Given the description of an element on the screen output the (x, y) to click on. 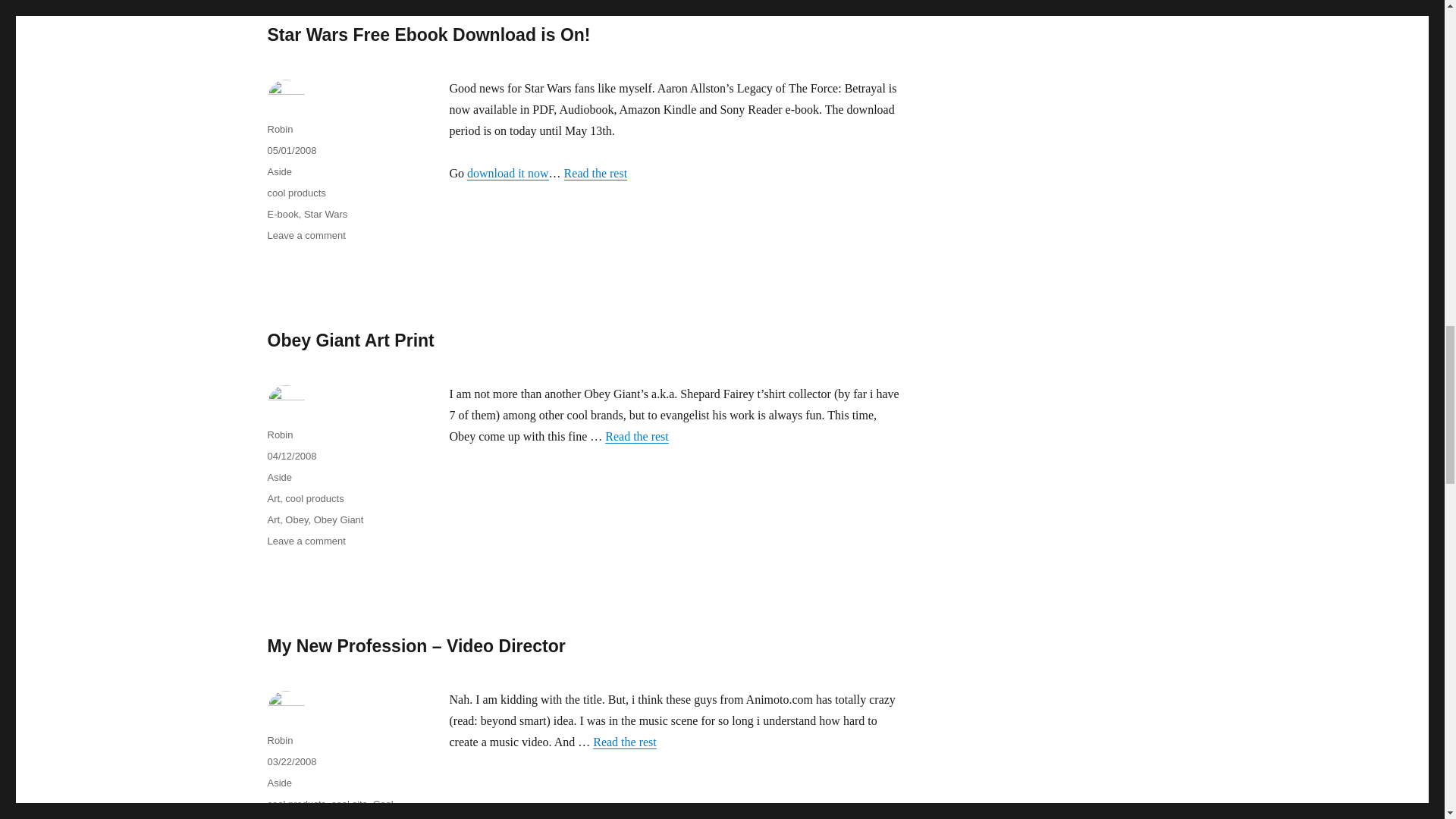
Star Wars Free Ebook Download is On! (427, 35)
Robin (279, 129)
download it now (507, 173)
Read the rest (595, 173)
